Given the description of an element on the screen output the (x, y) to click on. 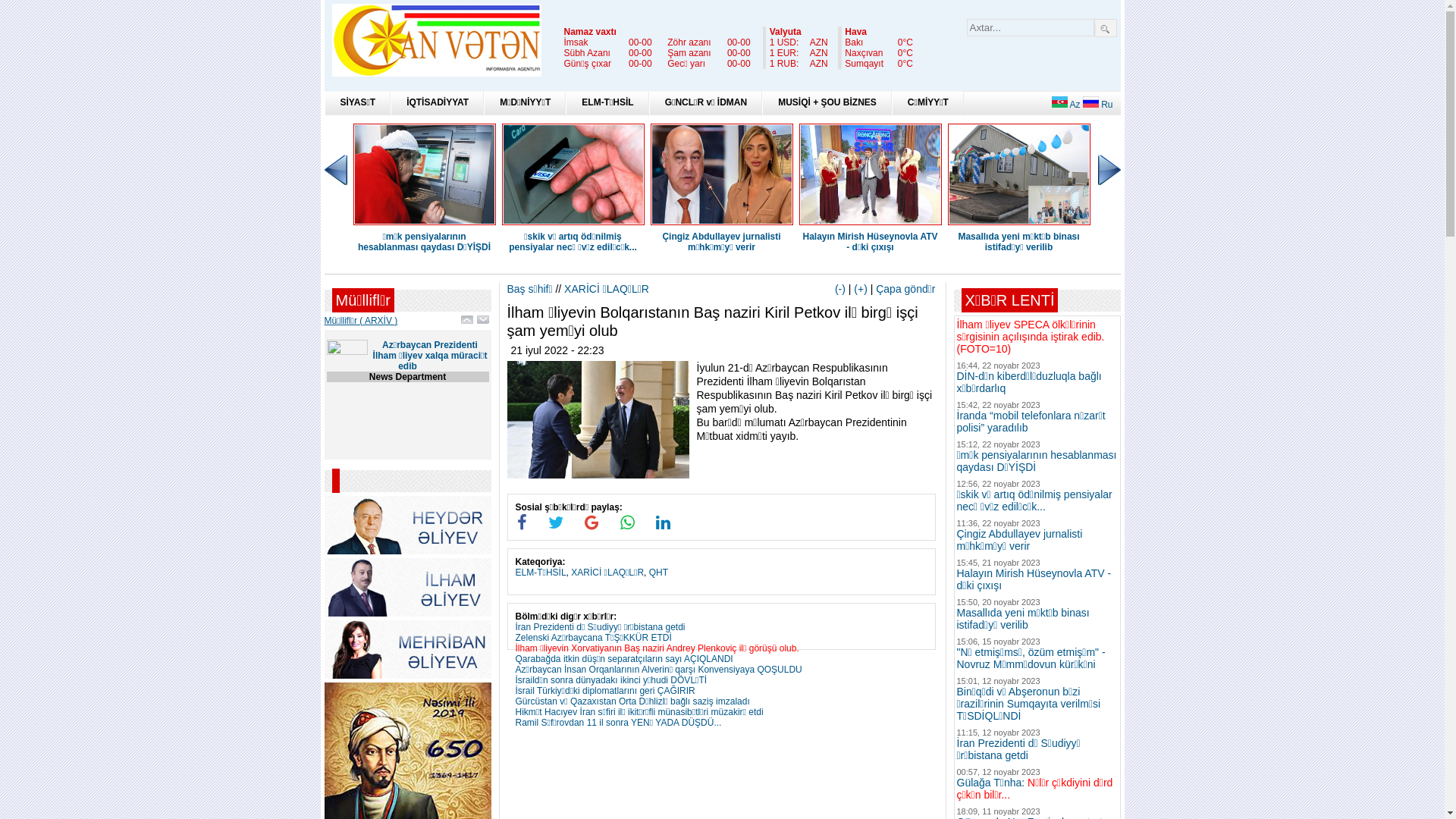
Az Element type: text (1065, 104)
QHT Element type: text (658, 572)
(+) Element type: text (860, 288)
News Department Element type: text (407, 376)
(-) Element type: text (839, 288)
Ru Element type: text (1097, 104)
